Given the description of an element on the screen output the (x, y) to click on. 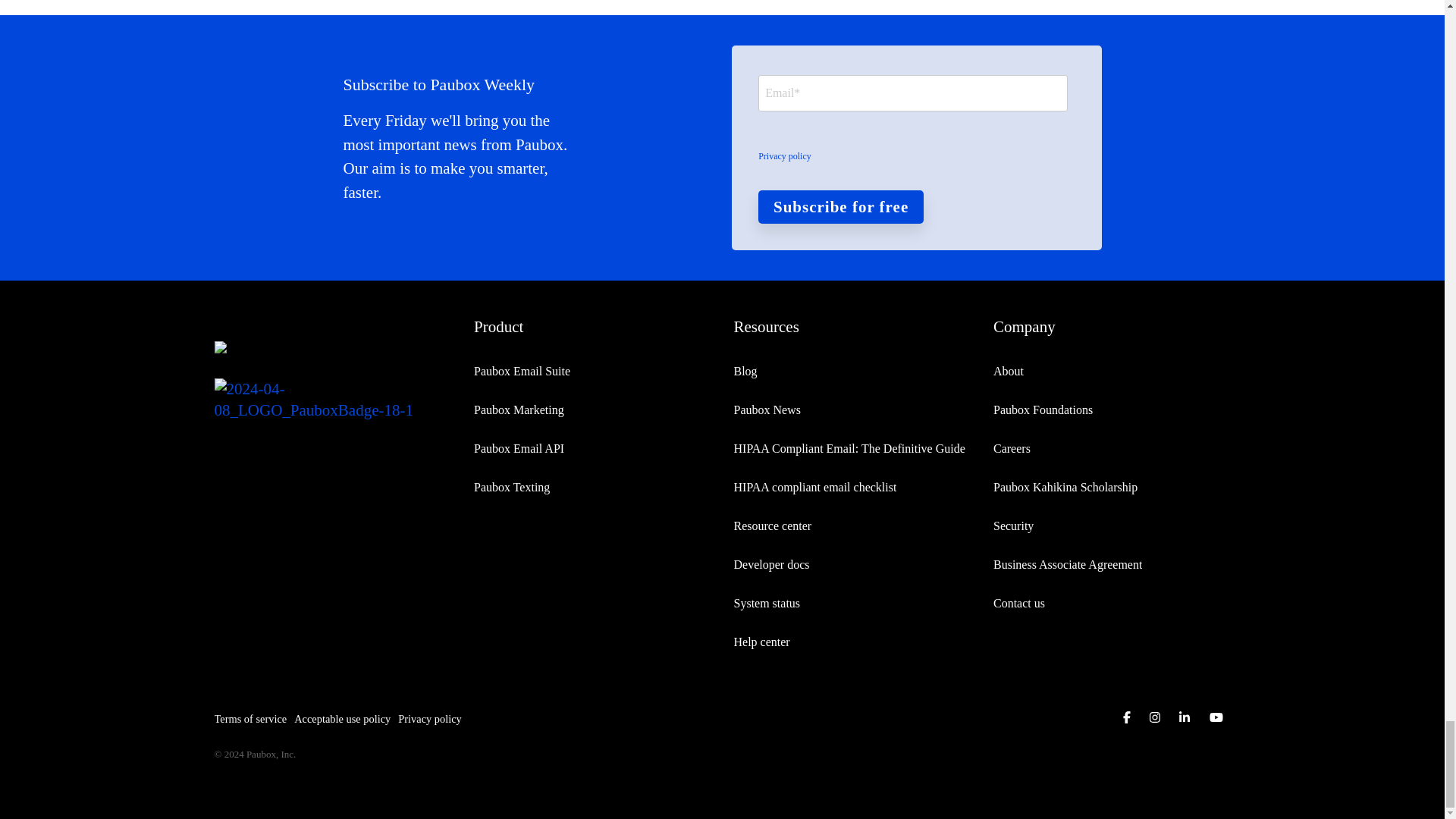
Subscribe for free (840, 206)
